Given the description of an element on the screen output the (x, y) to click on. 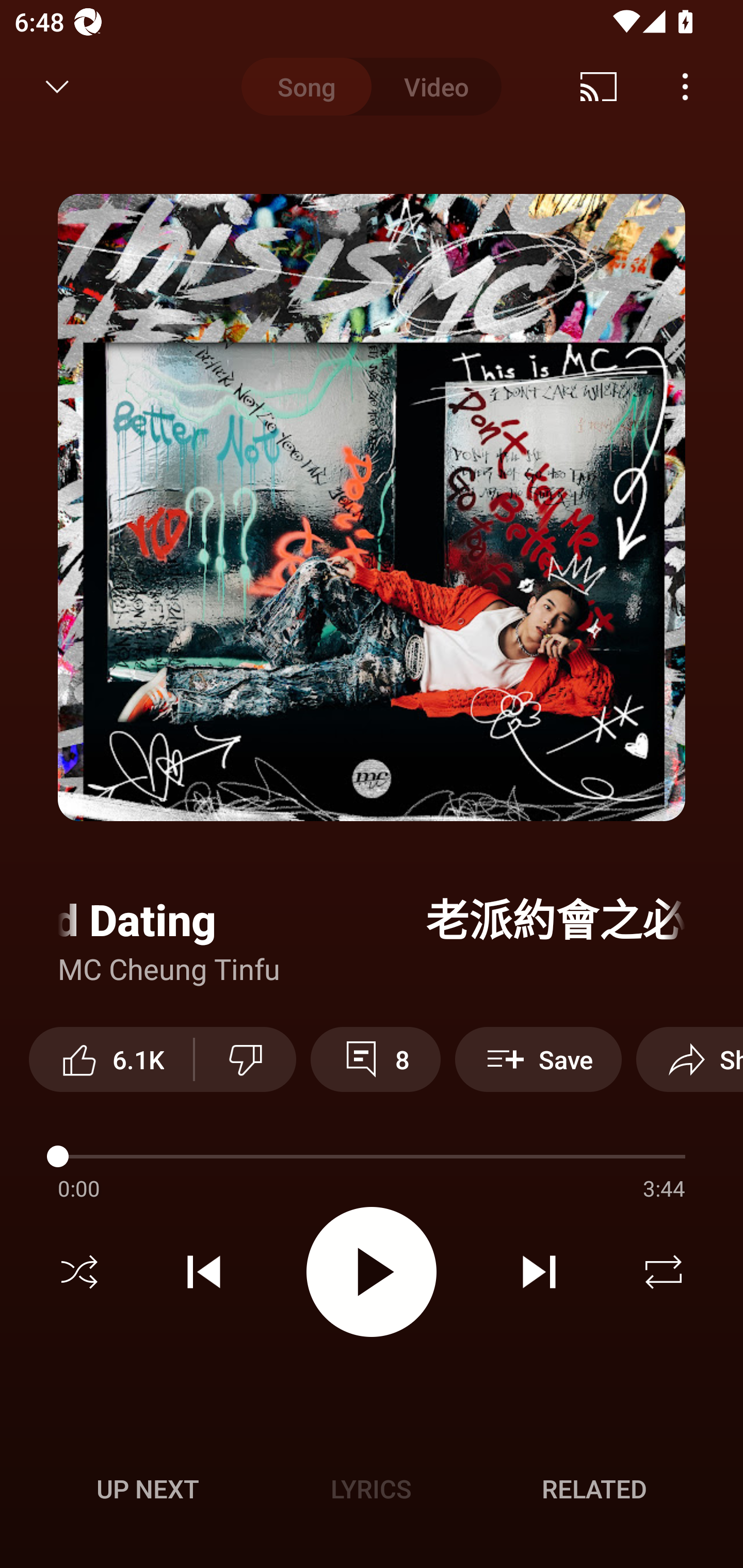
Minimize (57, 86)
Cast. Disconnected (598, 86)
Menu (684, 86)
6.1K like this video along with 6,122 other people (110, 1059)
Dislike (245, 1059)
8 View 8 comments (375, 1059)
Save Save to playlist (537, 1059)
Share (689, 1059)
Play video (371, 1272)
Shuffle off (79, 1272)
Previous track (203, 1272)
Next track (538, 1272)
Repeat off (663, 1272)
Up next UP NEXT Lyrics LYRICS Related RELATED (371, 1491)
Lyrics LYRICS (370, 1488)
Related RELATED (594, 1488)
